Given the description of an element on the screen output the (x, y) to click on. 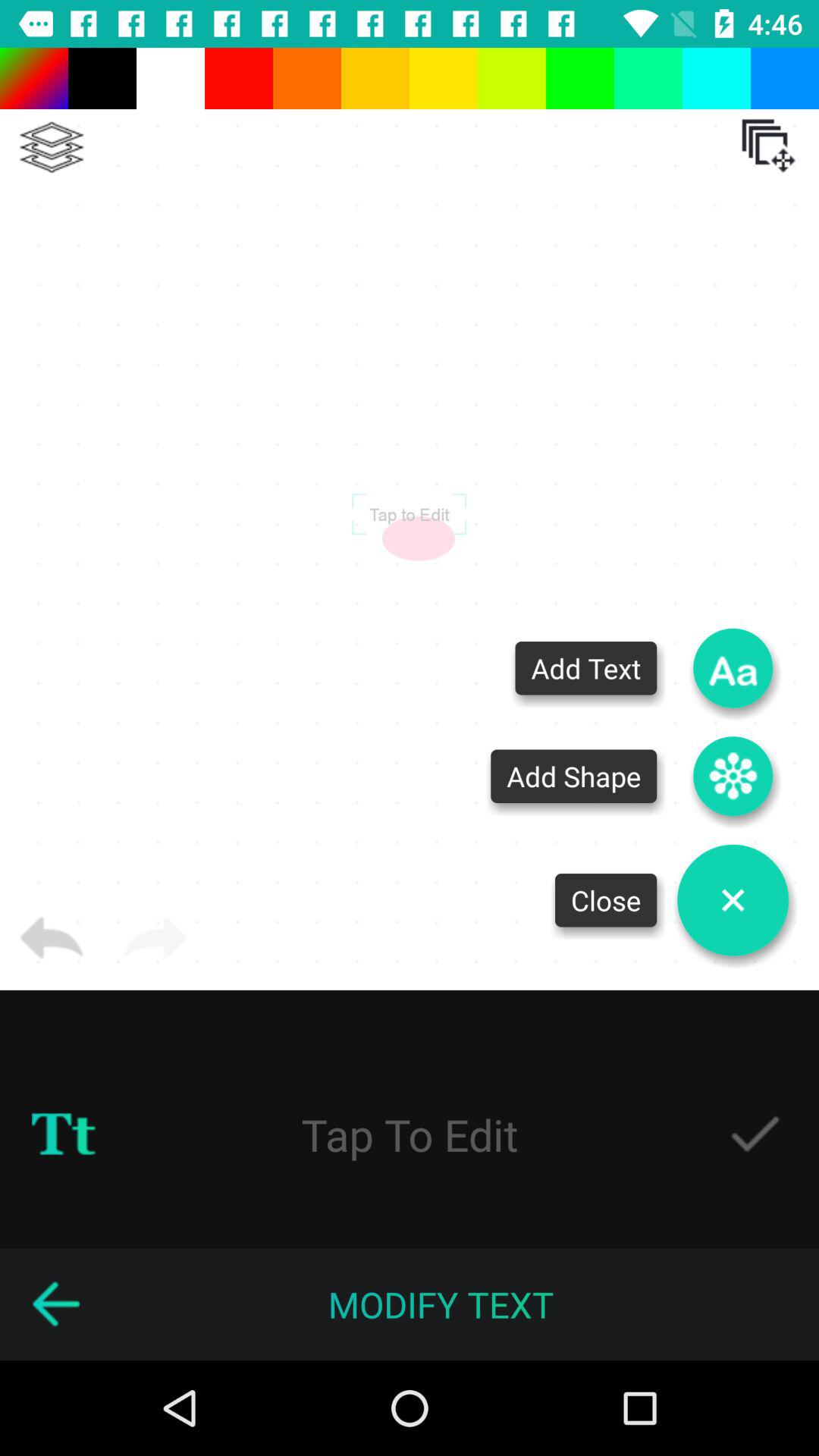
see layers (51, 147)
